Given the description of an element on the screen output the (x, y) to click on. 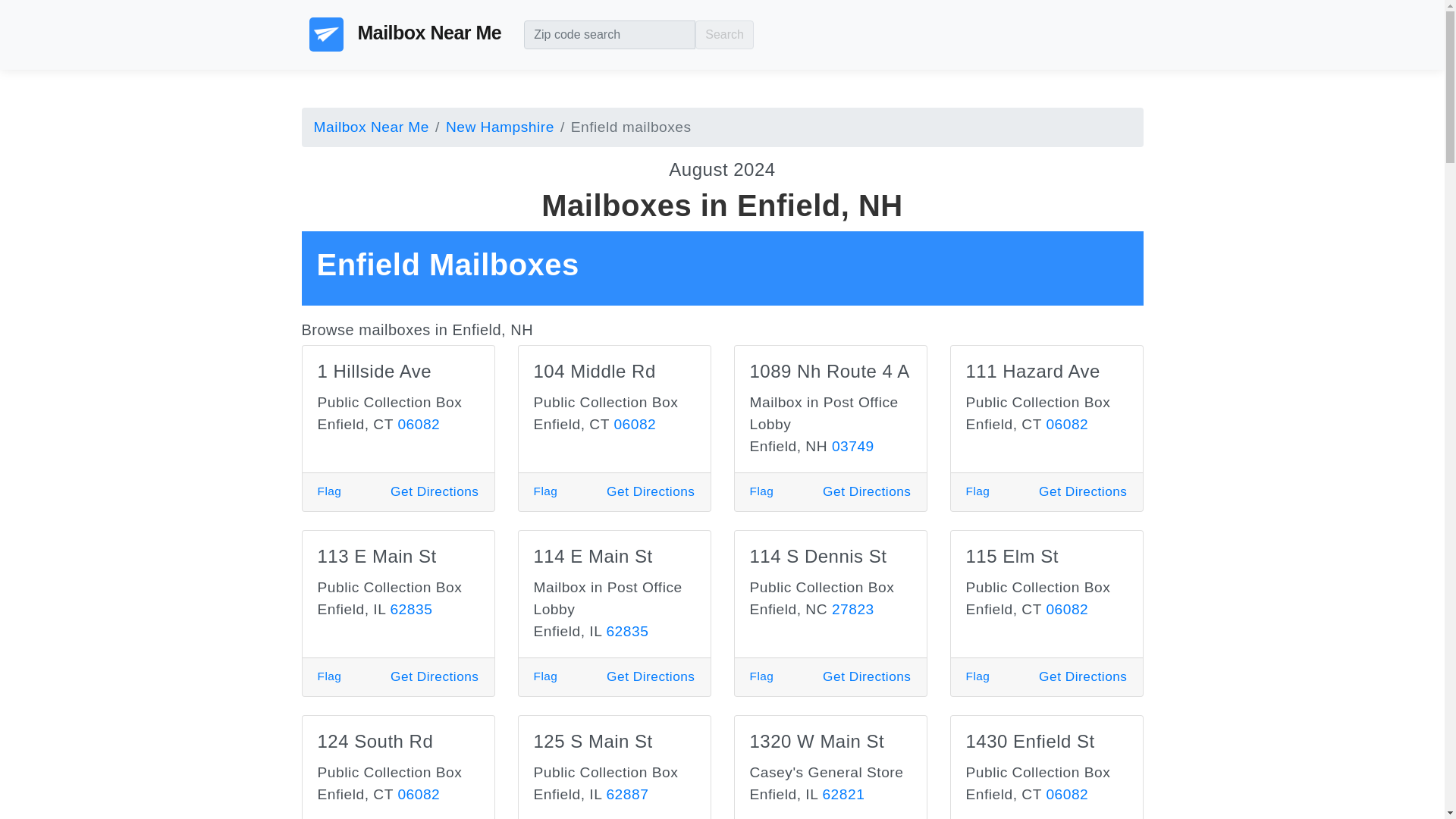
62835 (411, 609)
62887 (626, 794)
Get Directions (866, 491)
Flag (545, 675)
Get Directions (1082, 676)
Get Directions (1082, 491)
62835 (626, 631)
06082 (1066, 424)
Get Directions (434, 491)
06082 (418, 794)
